Given the description of an element on the screen output the (x, y) to click on. 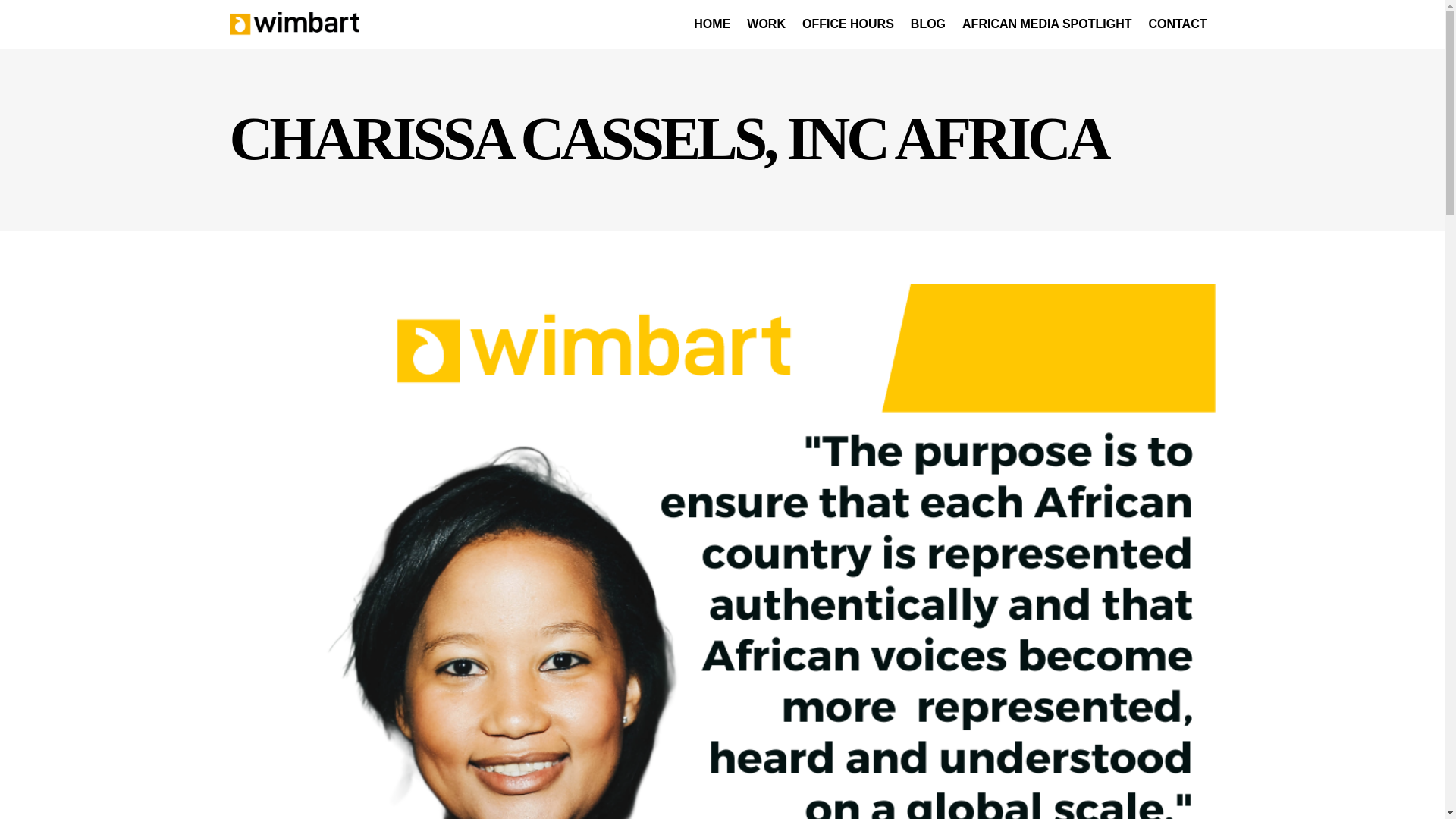
OFFICE HOURS (847, 24)
HOME (711, 24)
WORK (765, 24)
AFRICAN MEDIA SPOTLIGHT (1046, 24)
CONTACT (1177, 24)
BLOG (927, 24)
